Given the description of an element on the screen output the (x, y) to click on. 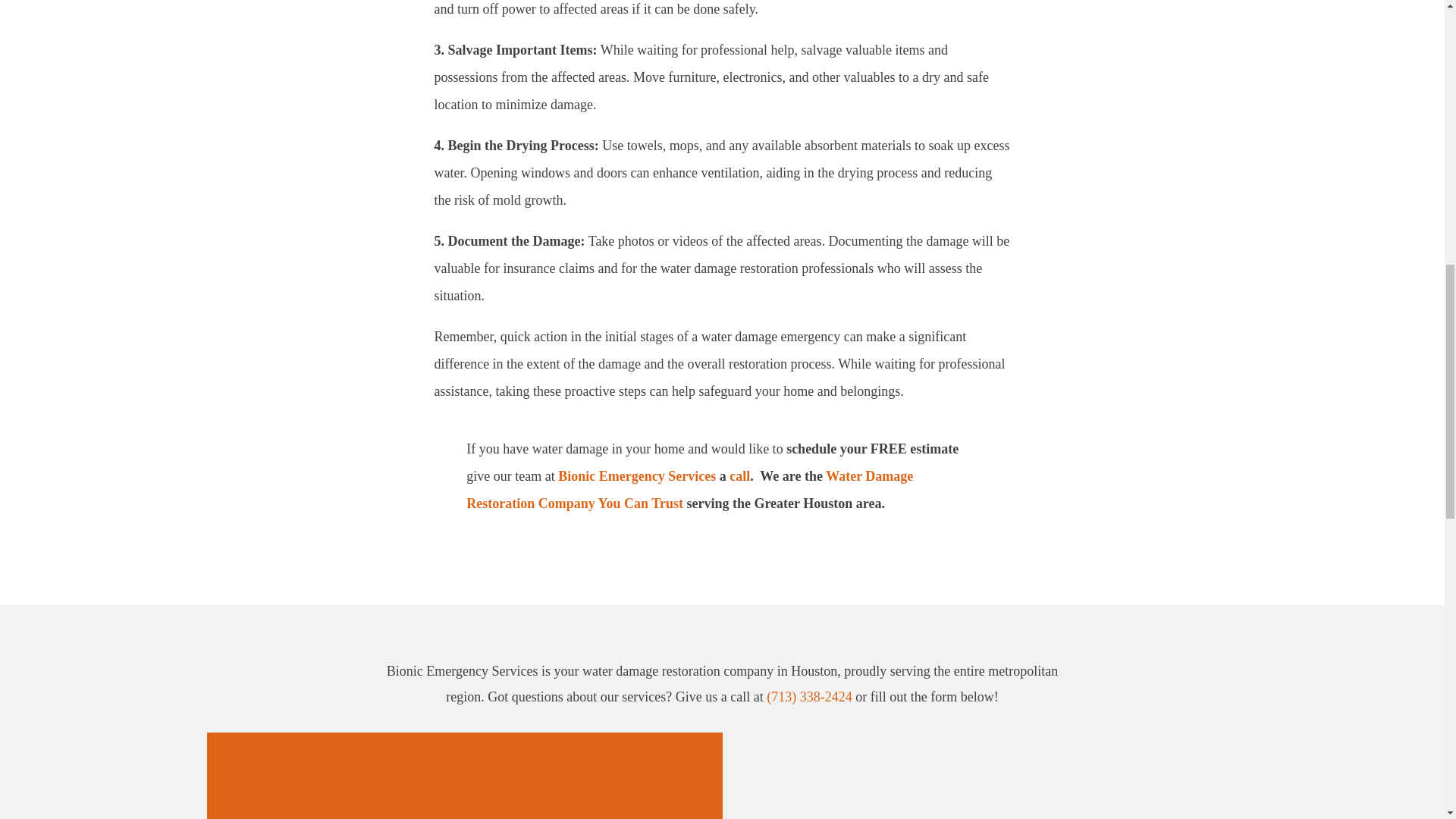
call (739, 476)
Water Damage Restoration Company You Can Trust (688, 489)
Bionic Emergency Services (636, 476)
